Given the description of an element on the screen output the (x, y) to click on. 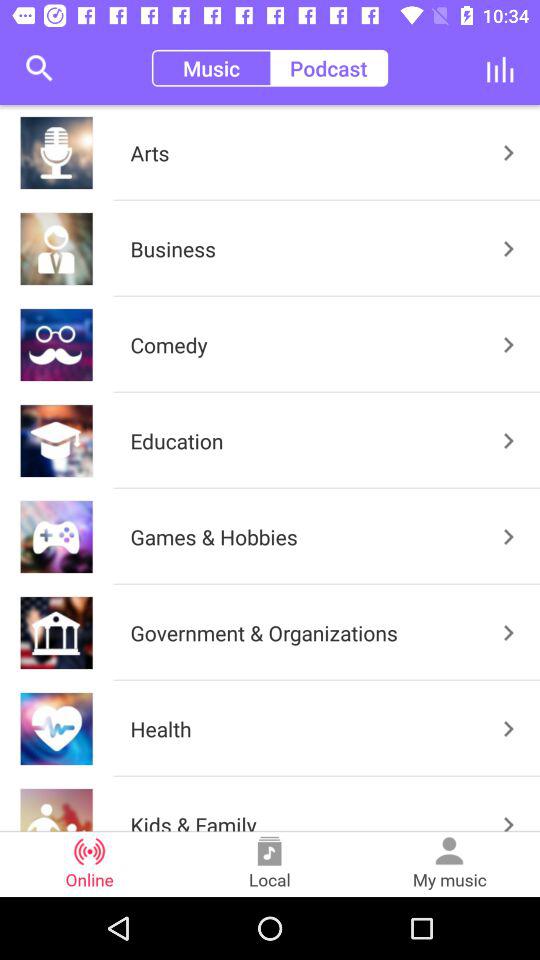
turn off the item to the left of my music item (270, 863)
